Given the description of an element on the screen output the (x, y) to click on. 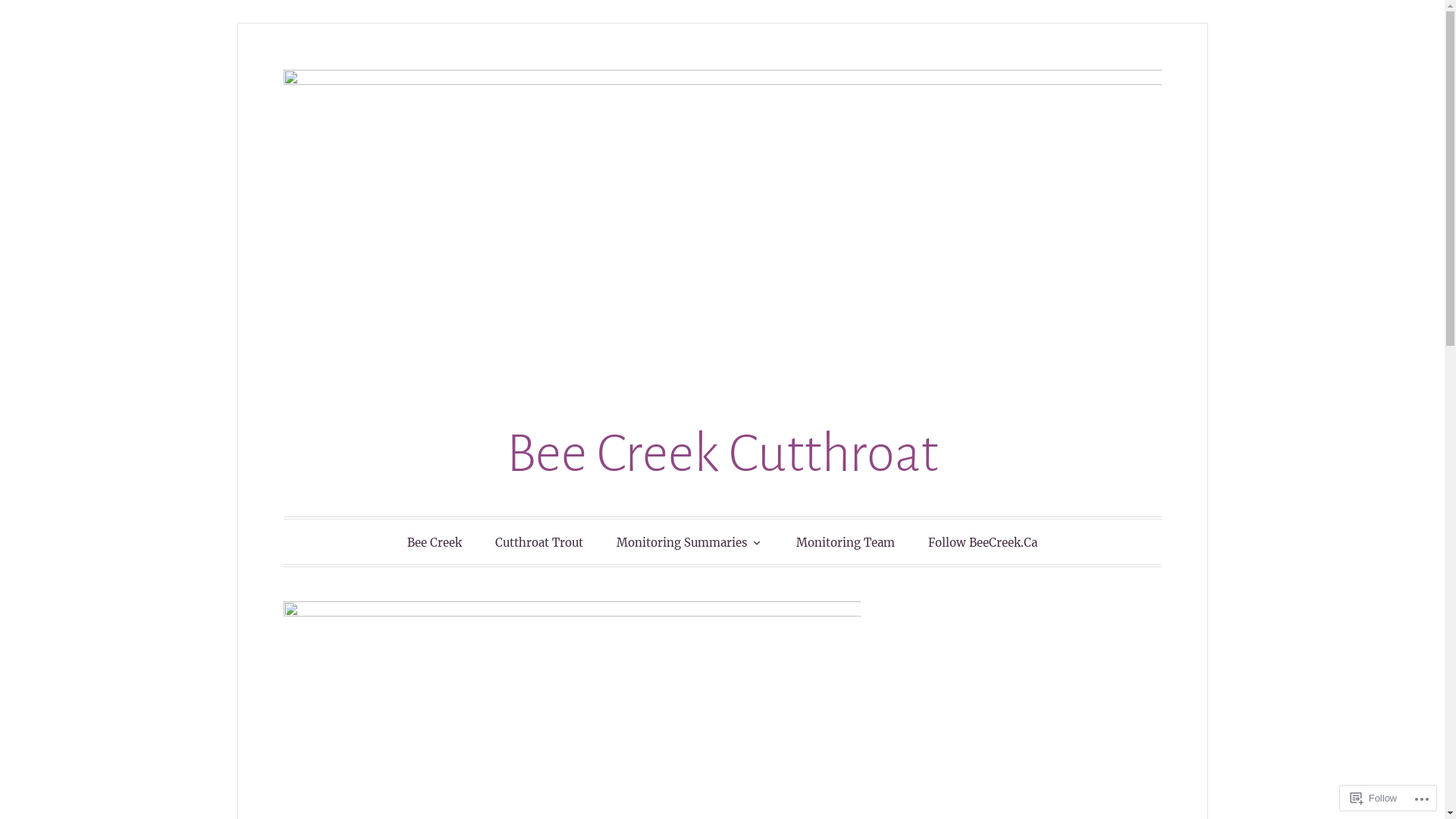
Follow Element type: text (1373, 797)
Cutthroat Trout Element type: text (539, 542)
Follow BeeCreek.Ca Element type: text (982, 542)
Bee Creek Cutthroat Element type: text (722, 453)
Monitoring Team Element type: text (845, 542)
Monitoring Summaries Element type: text (689, 541)
Bee Creek Element type: text (434, 542)
